Given the description of an element on the screen output the (x, y) to click on. 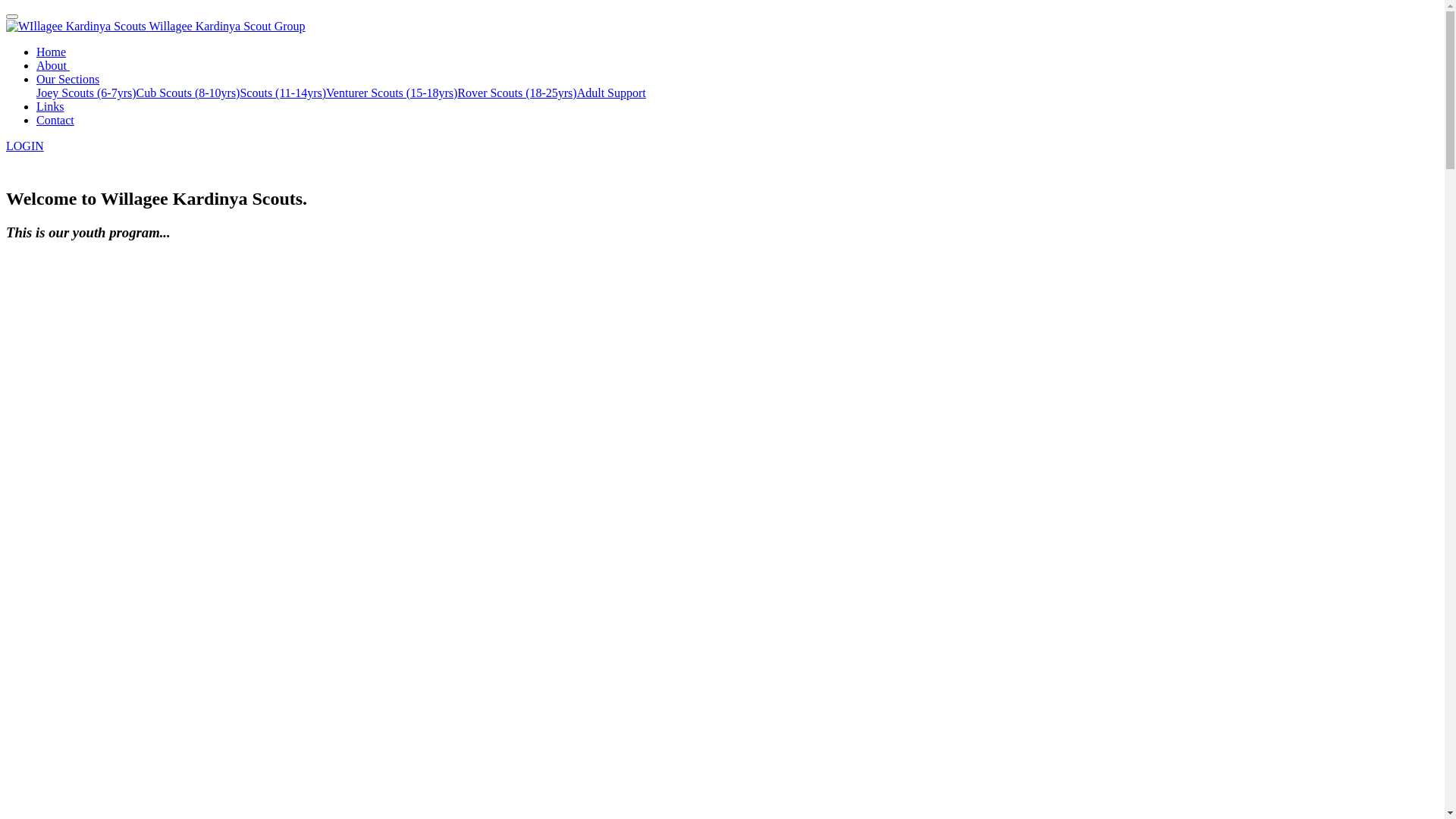
Rover Scouts (18-25yrs) Element type: text (516, 92)
Adult Support Element type: text (611, 92)
LOGIN Element type: text (24, 145)
Cub Scouts (8-10yrs) Element type: text (188, 92)
Links Element type: text (49, 106)
Joey Scouts (6-7yrs) Element type: text (86, 92)
Venturer Scouts (15-18yrs) Element type: text (391, 92)
About  Element type: text (52, 65)
Willagee Kardinya Scout Group Element type: text (227, 25)
Home Element type: text (50, 51)
Our Sections Element type: text (67, 78)
Scouts (11-14yrs) Element type: text (282, 92)
Contact Element type: text (55, 119)
WIllagee Kardinya Scouts Element type: hover (76, 26)
